Given the description of an element on the screen output the (x, y) to click on. 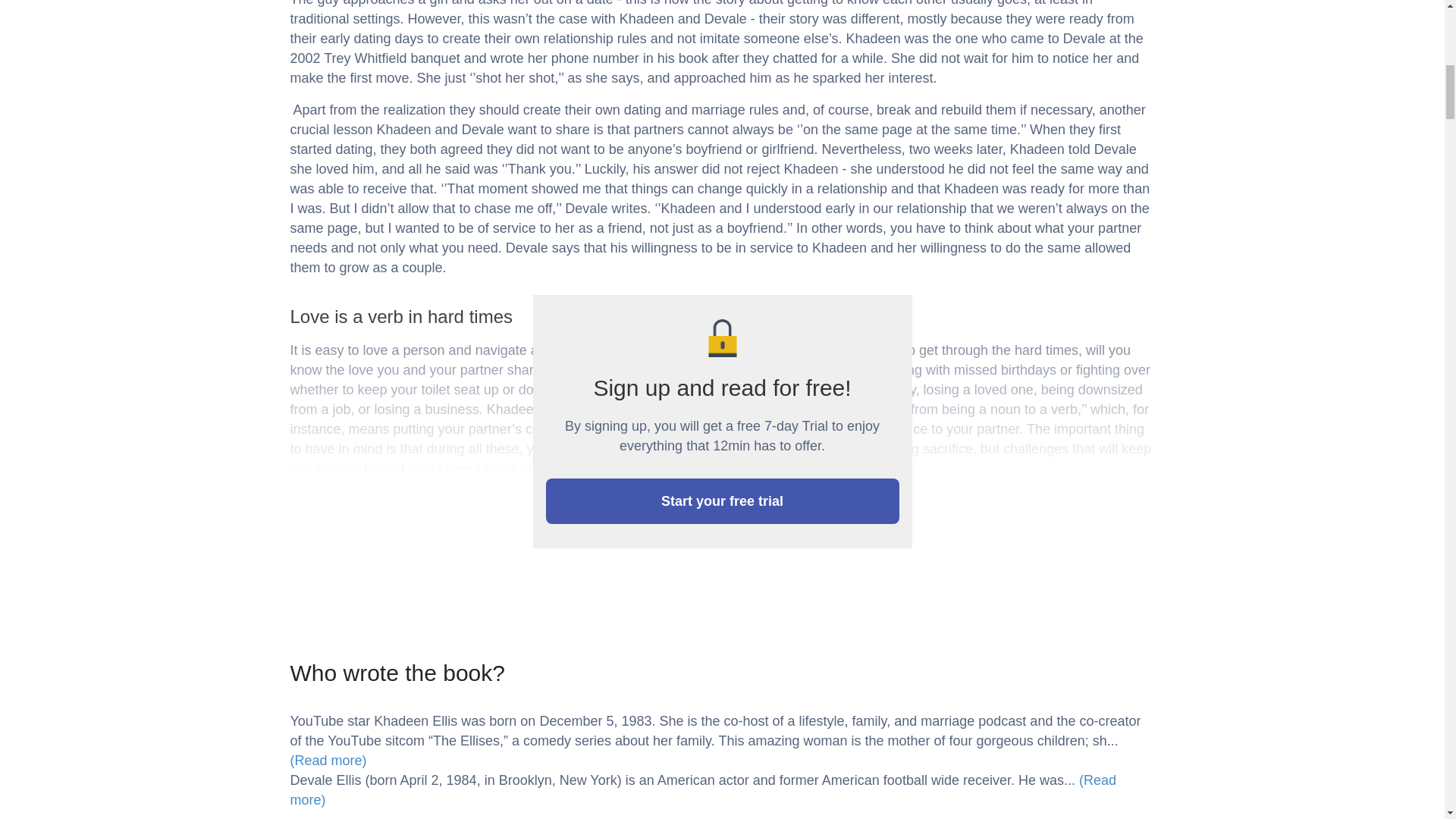
Start your free trial (722, 501)
